Given the description of an element on the screen output the (x, y) to click on. 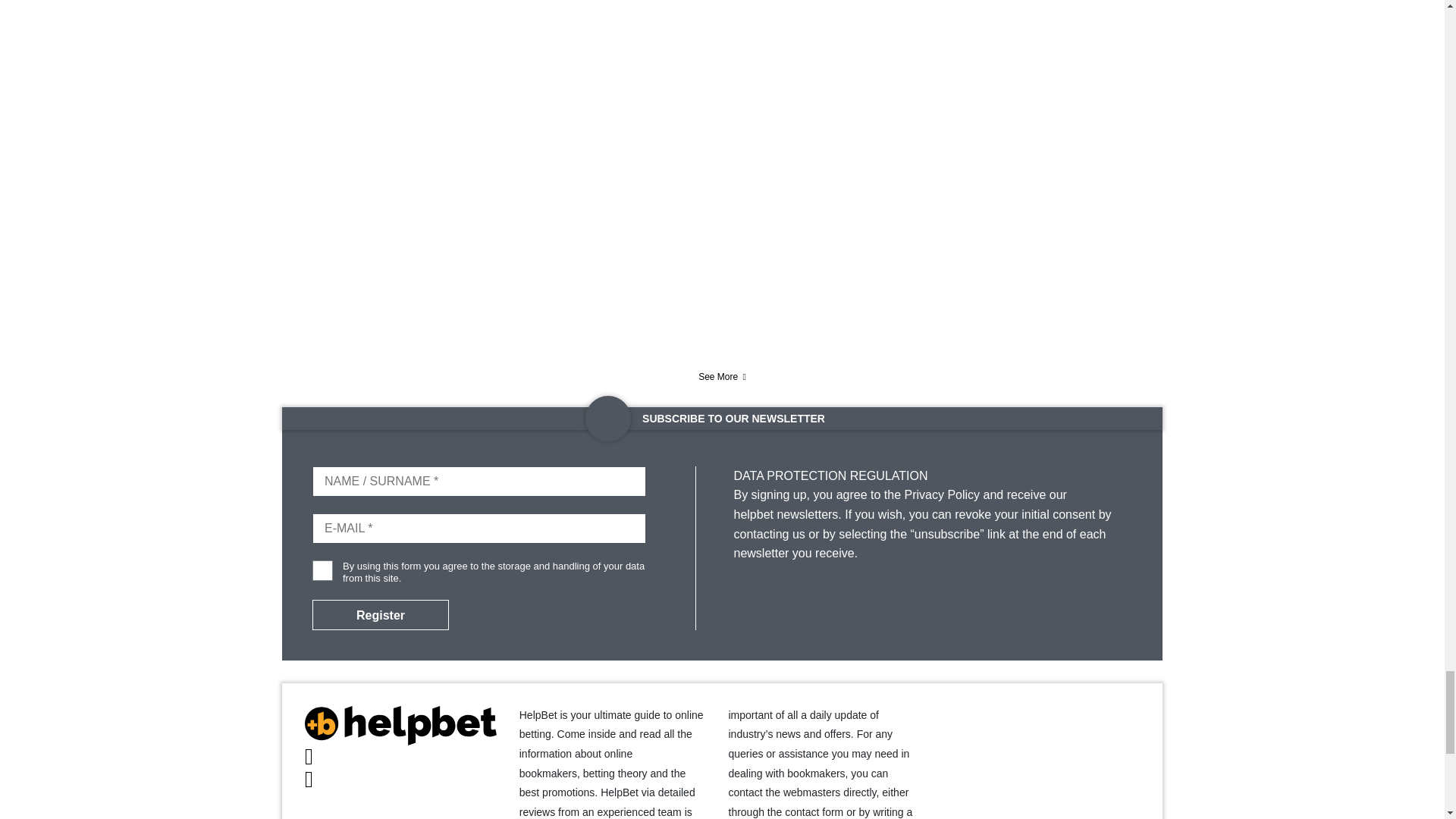
Register (380, 614)
